Given the description of an element on the screen output the (x, y) to click on. 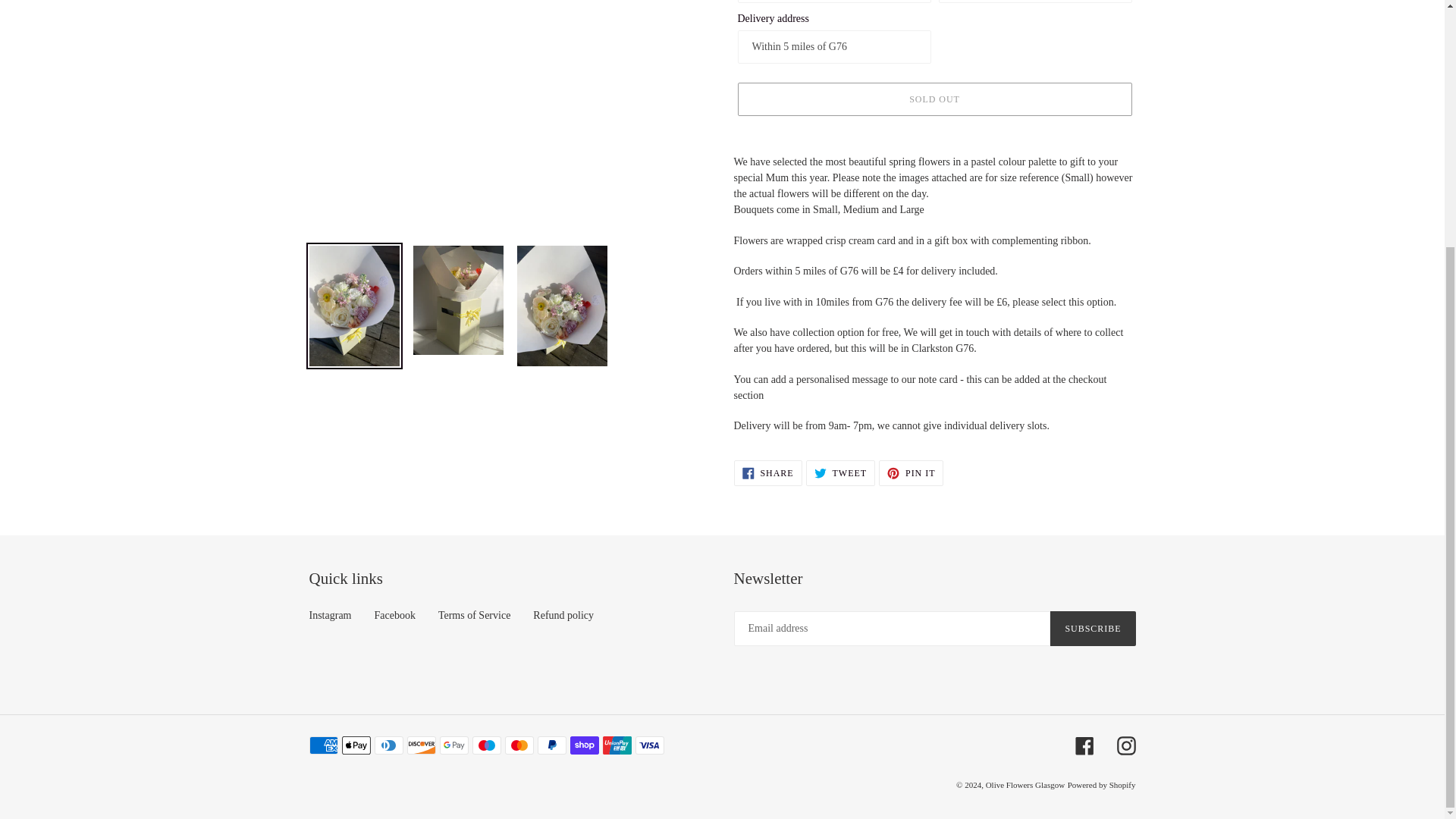
Instagram (330, 614)
Powered by Shopify (1101, 784)
SUBSCRIBE (767, 473)
Refund policy (1092, 628)
Facebook (563, 614)
SOLD OUT (1084, 745)
Olive Flowers Glasgow (911, 473)
Facebook (933, 99)
Instagram (1025, 784)
Terms of Service (394, 614)
